Given the description of an element on the screen output the (x, y) to click on. 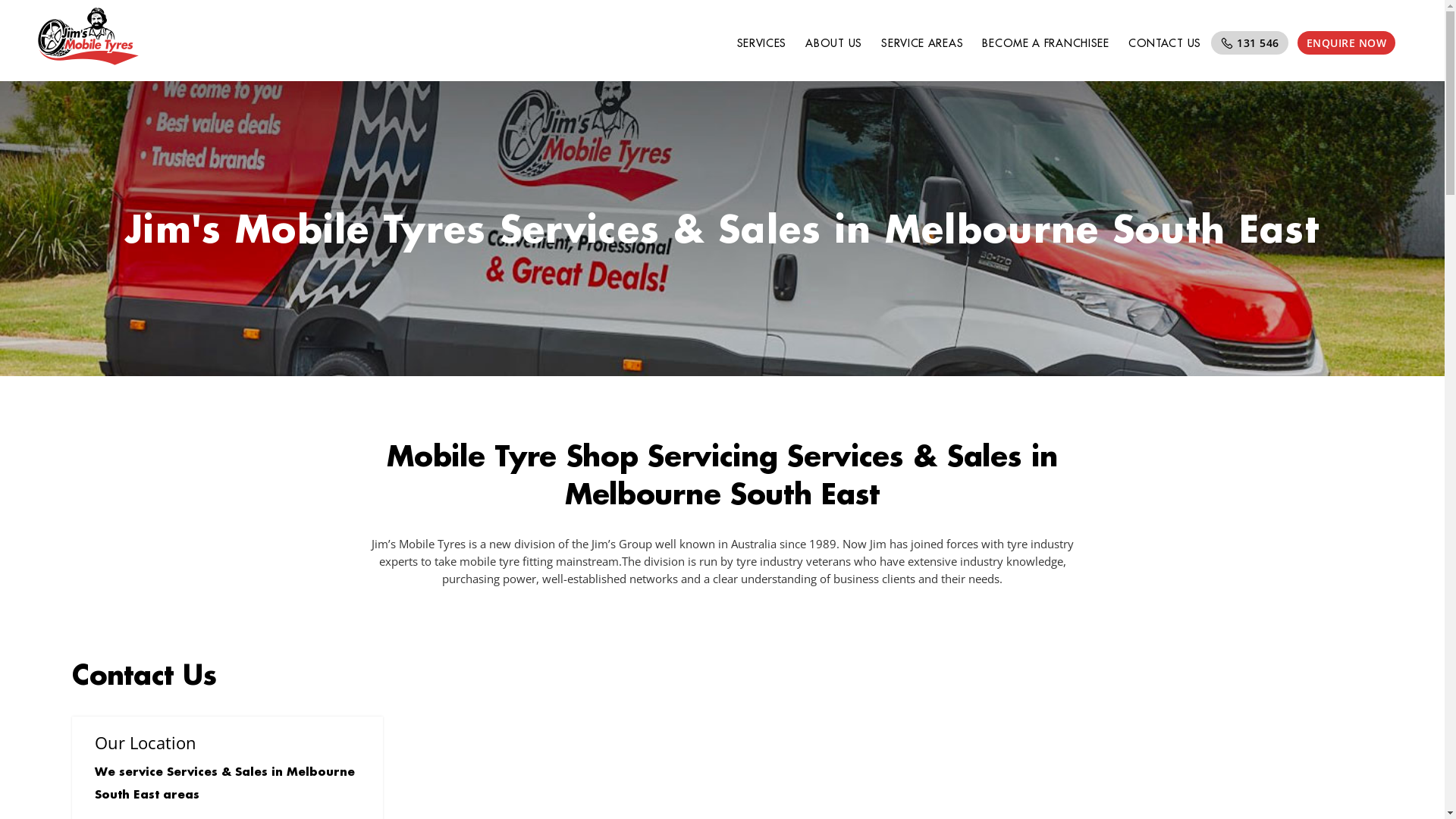
ABOUT US Element type: text (834, 43)
SERVICE AREAS Element type: text (922, 43)
SERVICES Element type: text (761, 43)
We service Services & Sales in Melbourne South East areas Element type: text (224, 782)
ENQUIRE NOW Element type: text (1345, 42)
CONTACT US Element type: text (1164, 43)
BECOME A FRANCHISEE Element type: text (1045, 43)
131 546 Element type: text (1248, 42)
